Given the description of an element on the screen output the (x, y) to click on. 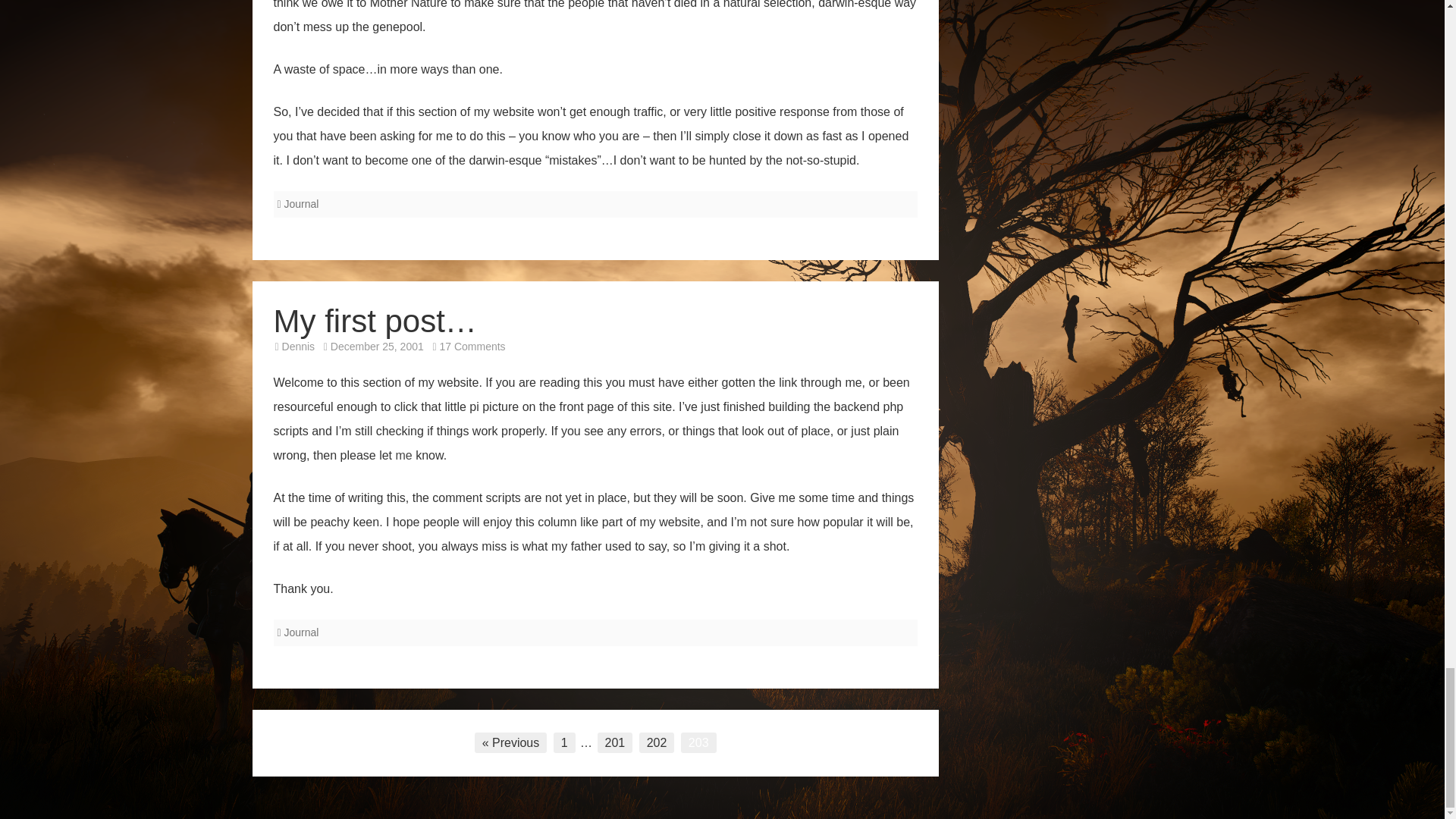
Journal (300, 203)
1 (564, 742)
Journal (300, 632)
201 (614, 742)
me (404, 454)
Dennis (298, 346)
